Given the description of an element on the screen output the (x, y) to click on. 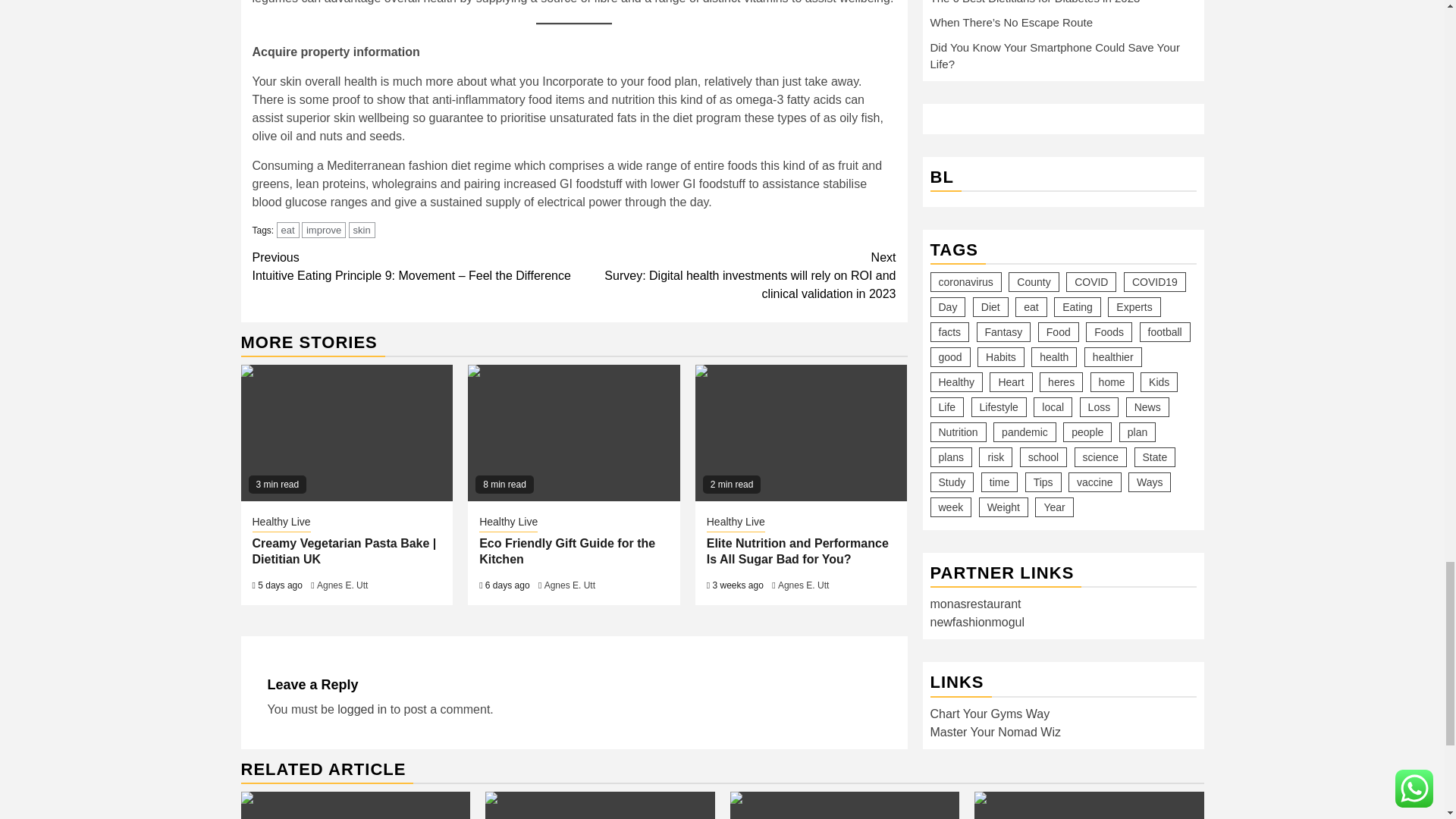
Healthy Live (735, 523)
Eco Friendly Gift Guide for the Kitchen (573, 432)
Agnes E. Utt (569, 584)
The 6 Best Dietitians for Prediabetes (355, 805)
eat (287, 229)
Healthy Live (508, 523)
skin (362, 229)
Agnes E. Utt (802, 584)
improve (323, 229)
